Given the description of an element on the screen output the (x, y) to click on. 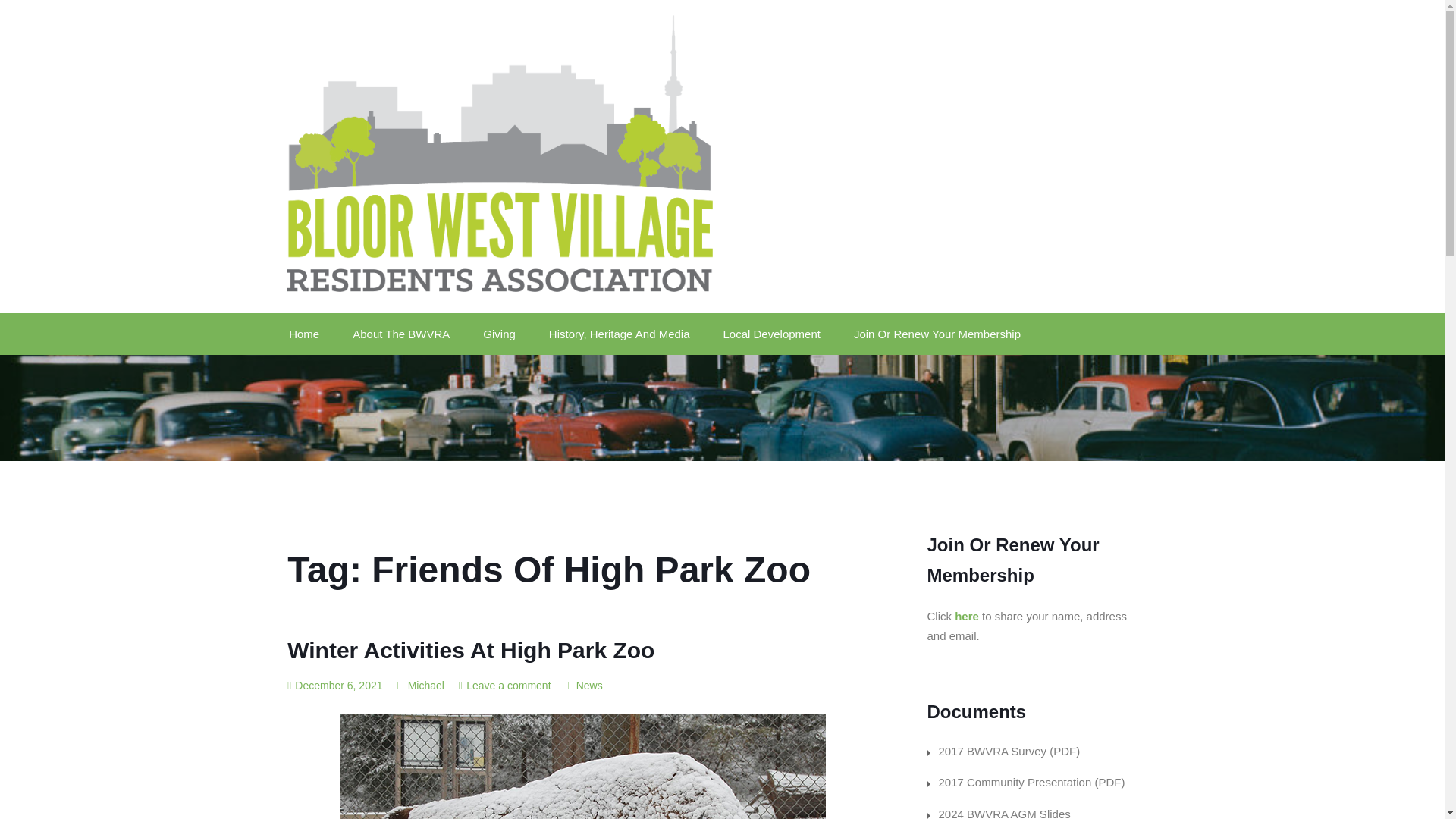
Leave a comment (507, 685)
Local Development (771, 333)
Home (311, 333)
Winter Activities At High Park Zoo (469, 650)
Michael (420, 685)
December 6, 2021 (333, 685)
Giving (499, 333)
News (589, 685)
Slides from our recent AGM held in July 2024 (1003, 813)
Join Or Renew Your Membership (936, 333)
here (966, 615)
About The BWVRA (400, 333)
Humber Theatre Update and Ryerson Neighbourhood Presentation (1030, 781)
Completed survey. (1008, 750)
History, Heritage And Media (619, 333)
